Given the description of an element on the screen output the (x, y) to click on. 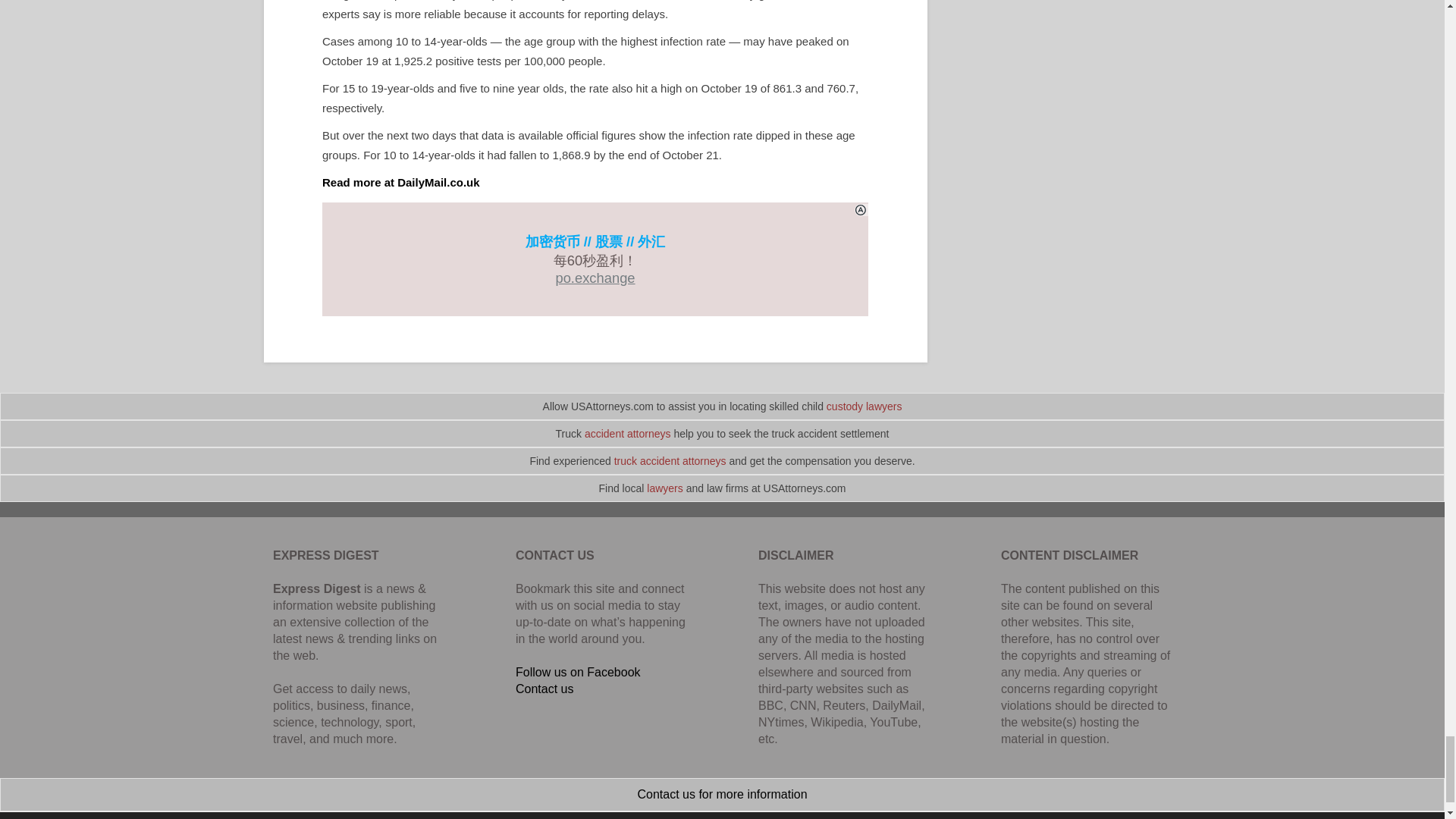
lawyers (664, 488)
truck accident attorneys (670, 460)
accident attorneys (628, 433)
custody lawyers (864, 406)
Read more at DailyMail.co.uk (400, 182)
